Given the description of an element on the screen output the (x, y) to click on. 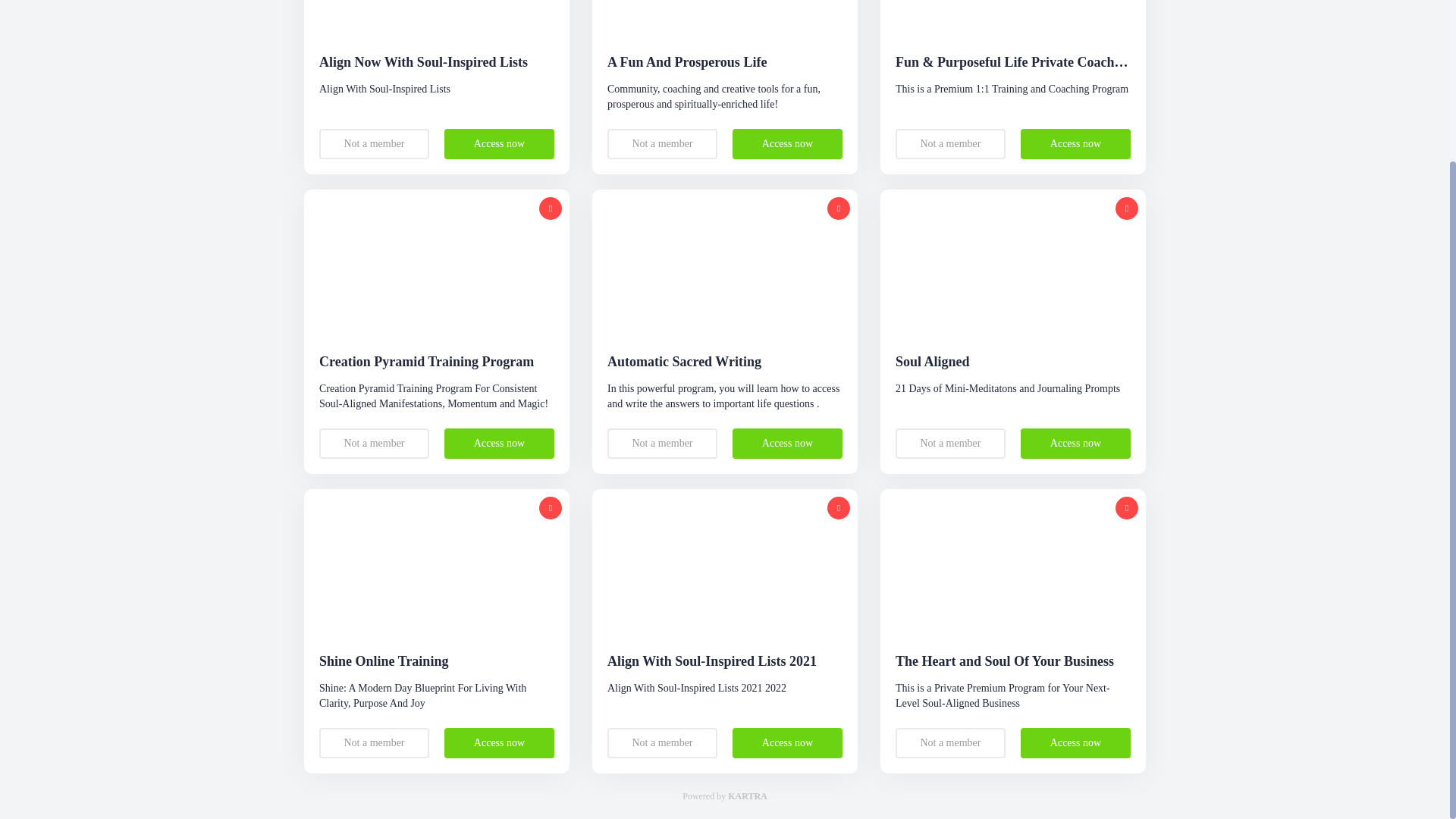
Not a member (662, 143)
Access now (1075, 743)
Access now (787, 743)
Access disabled (1126, 208)
Access now (1075, 143)
Access disabled (838, 208)
Not a member (950, 143)
Not a member (662, 743)
Not a member (373, 443)
Access disabled (550, 507)
